Given the description of an element on the screen output the (x, y) to click on. 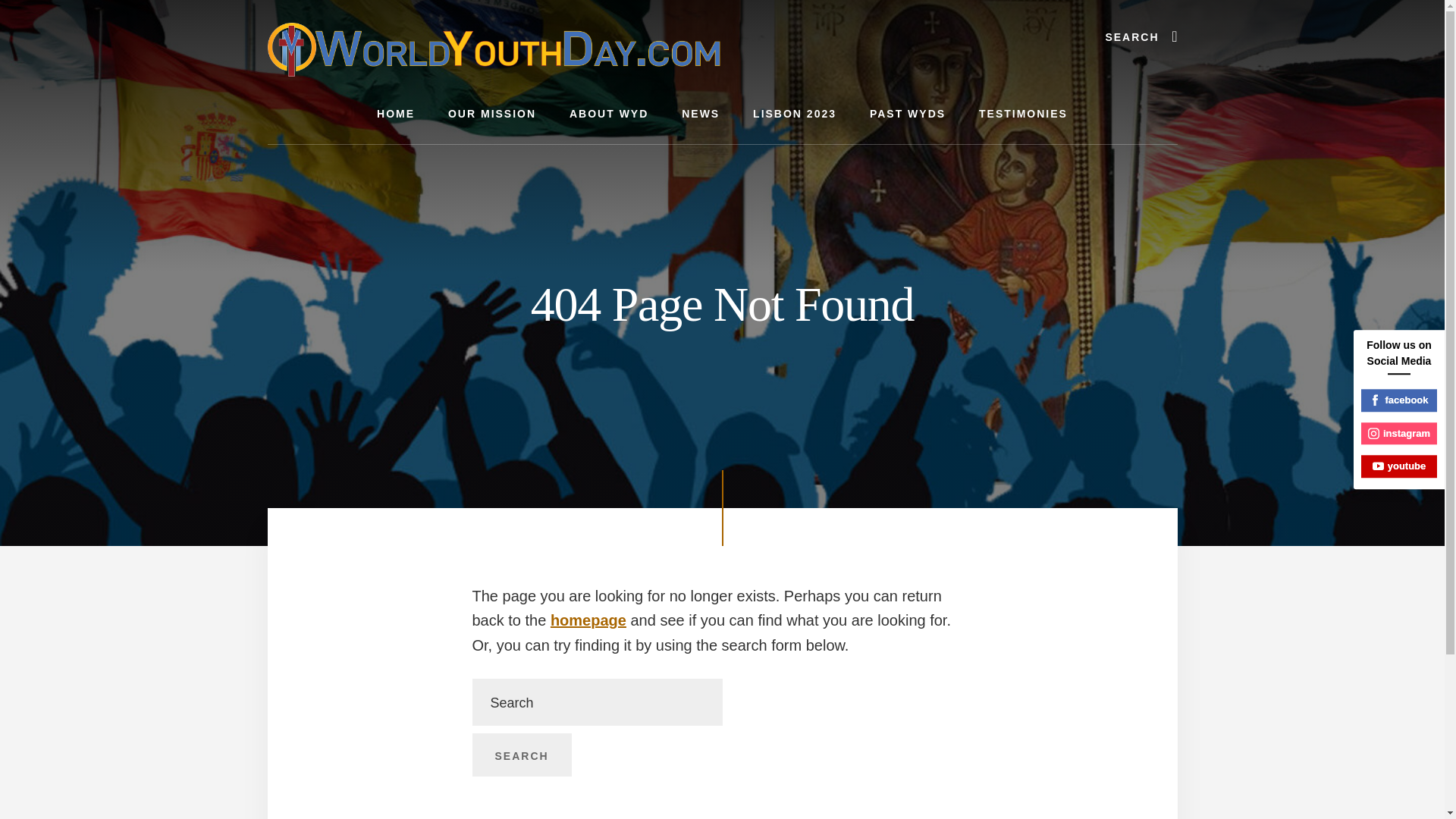
Search (520, 755)
homepage (588, 619)
PAST WYDS (907, 114)
Search (520, 755)
facebook (1399, 400)
youtube (1399, 466)
TESTIMONIES (1023, 114)
OUR MISSION (491, 114)
